Given the description of an element on the screen output the (x, y) to click on. 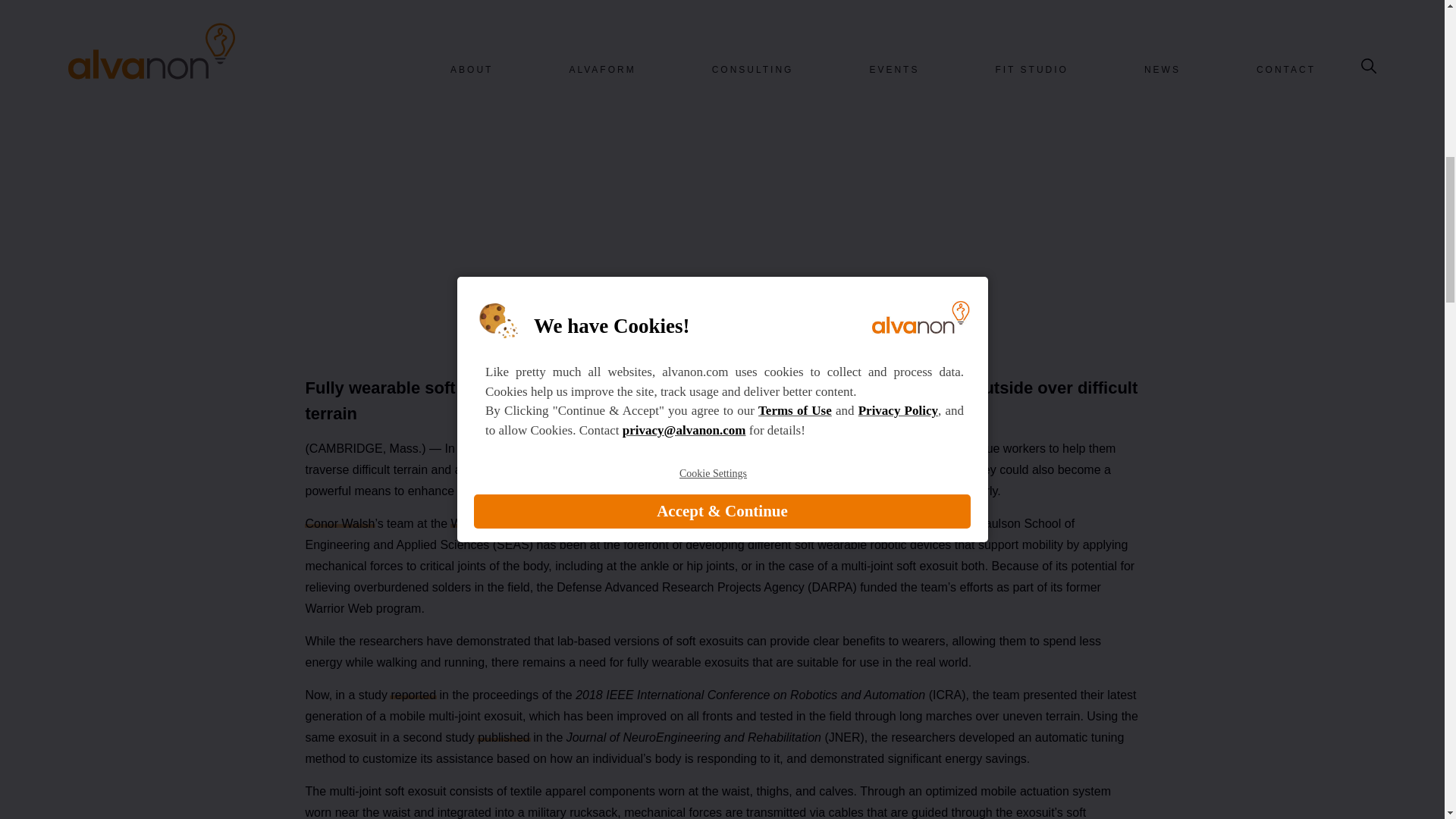
published (503, 737)
reported (412, 694)
Conor Walsh (339, 523)
